Given the description of an element on the screen output the (x, y) to click on. 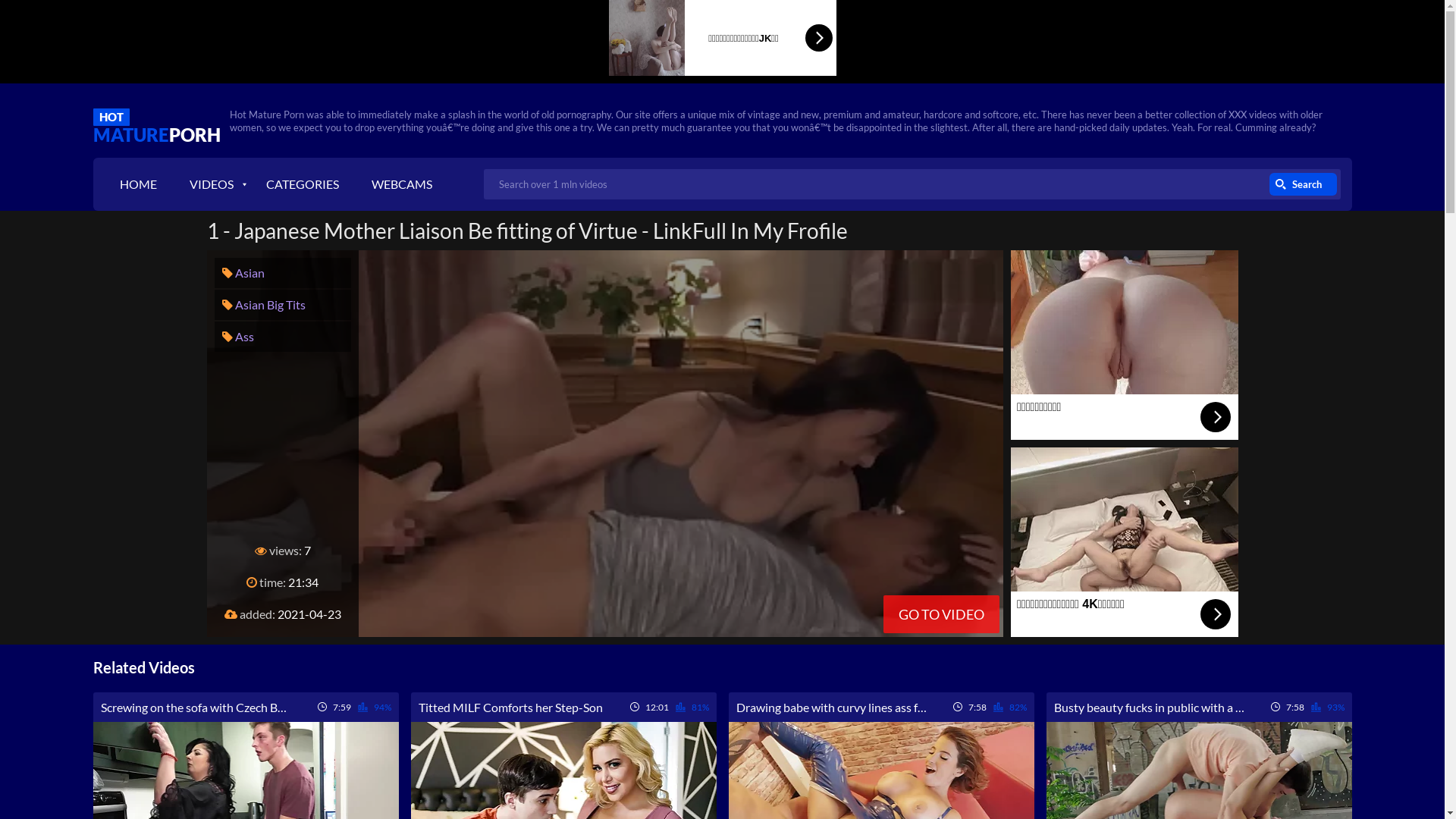
Search X Videos Element type: hover (911, 183)
Busty beauty fucks in public with a random dude Element type: text (1149, 706)
HOME Element type: text (138, 183)
WEBCAMS Element type: text (401, 183)
Ass Element type: text (237, 336)
Asian Big Tits Element type: text (262, 304)
Search Element type: text (1302, 183)
Titted MILF Comforts her Step-Son Element type: text (510, 706)
HOT
MATUREPORH Element type: text (155, 120)
Asian Element type: text (242, 272)
CATEGORIES Element type: text (301, 183)
